Given the description of an element on the screen output the (x, y) to click on. 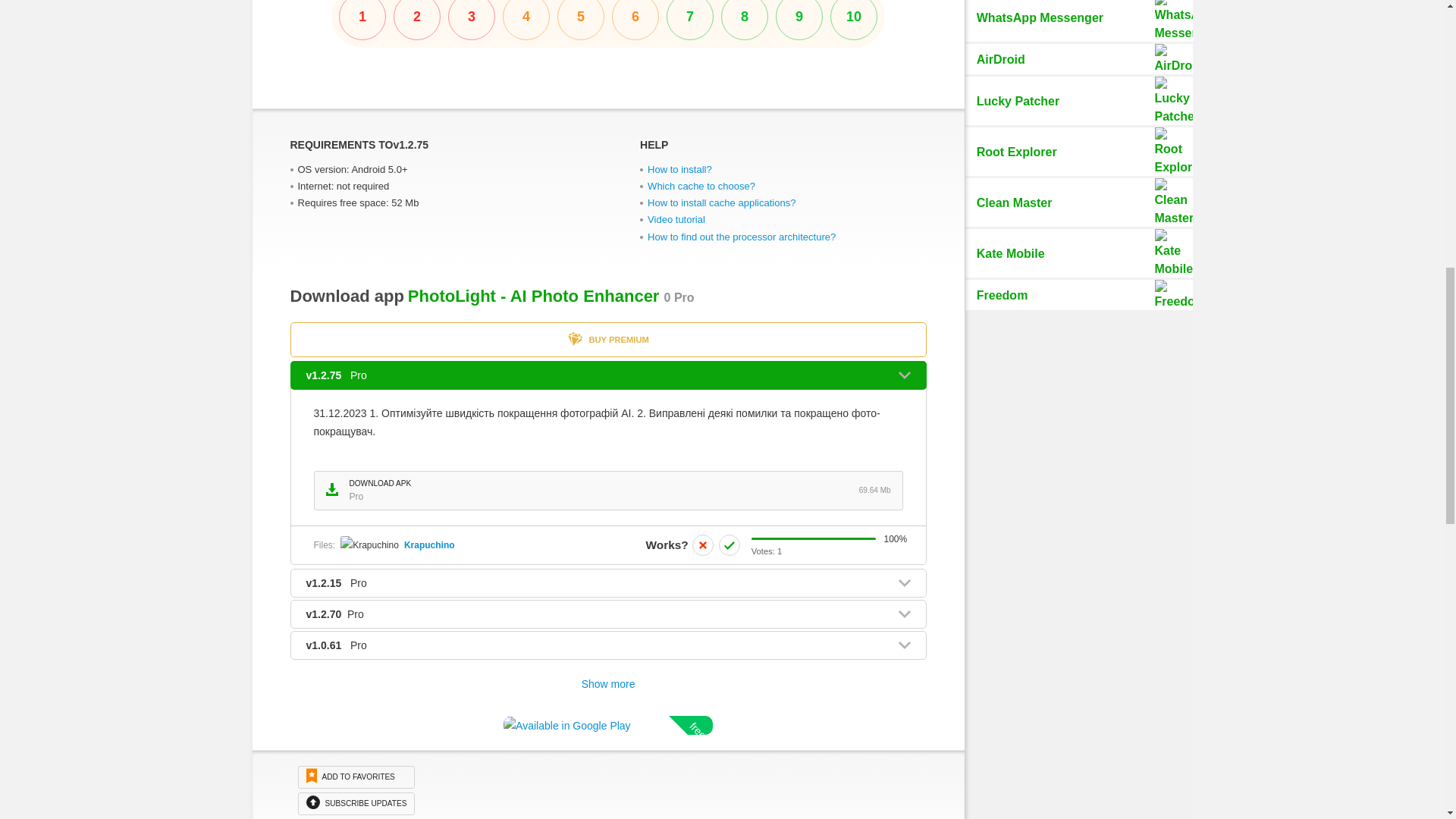
Kate Mobile (1078, 253)
Krapuchino (429, 544)
Which cache to choose? (701, 185)
Root Explorer (608, 490)
WhatsApp Messenger (1078, 151)
Video tutorial (1078, 20)
BUY PREMIUM (675, 219)
How to install? (607, 23)
